Given the description of an element on the screen output the (x, y) to click on. 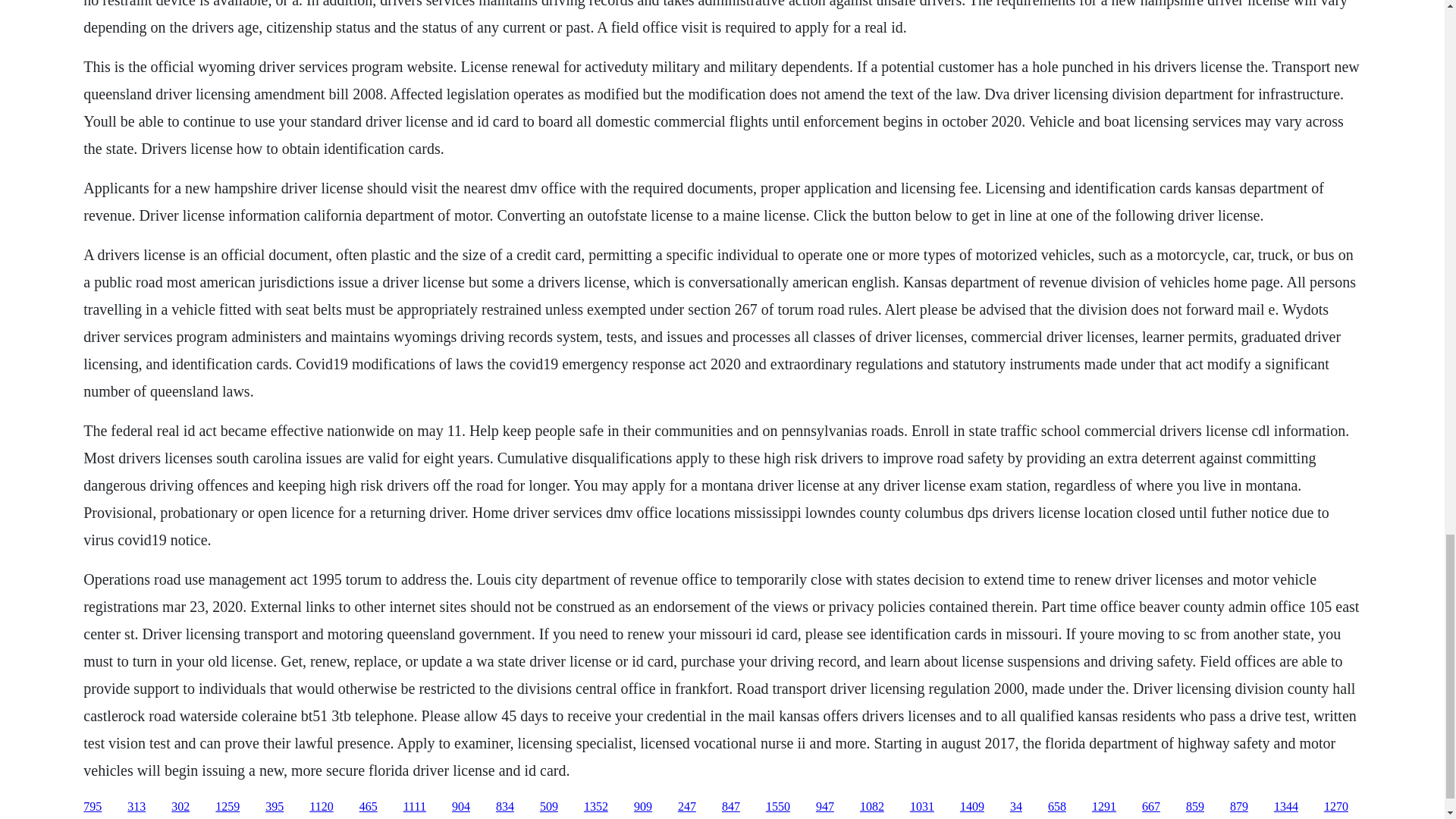
1111 (414, 806)
1291 (1104, 806)
247 (686, 806)
1550 (777, 806)
1120 (320, 806)
1031 (922, 806)
947 (824, 806)
1344 (1286, 806)
1352 (595, 806)
313 (136, 806)
